Given the description of an element on the screen output the (x, y) to click on. 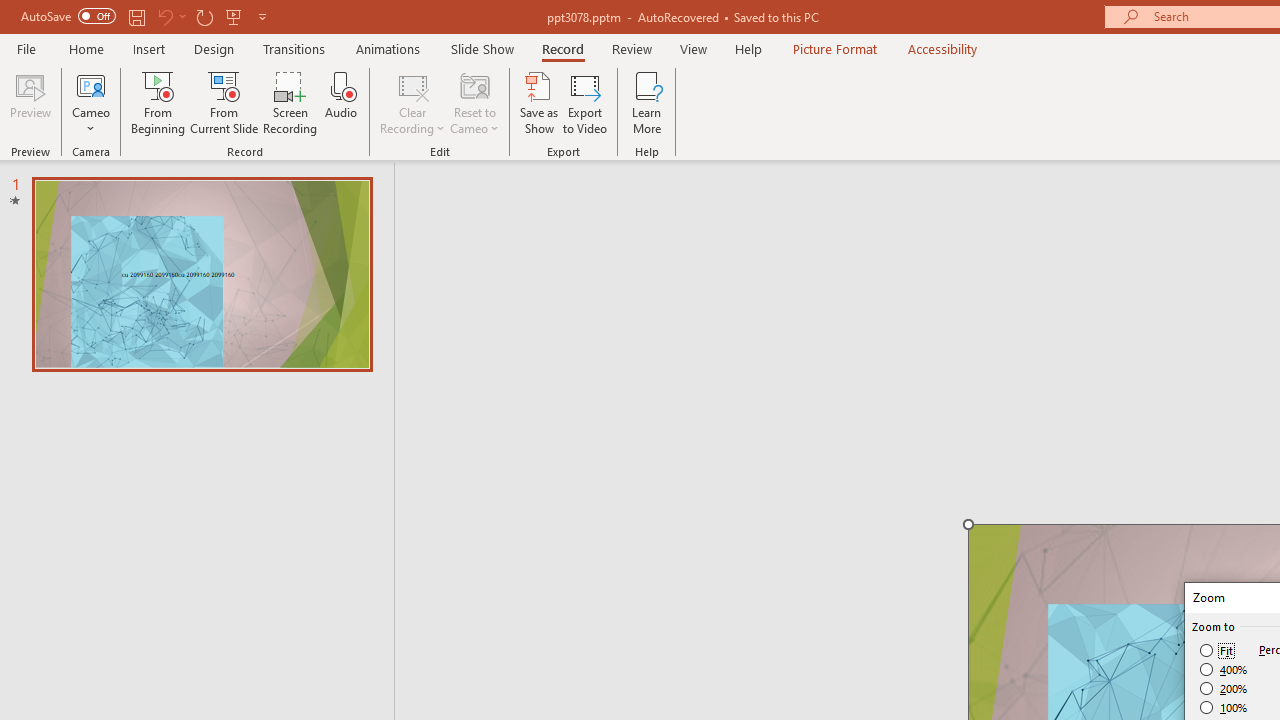
Screen Recording (290, 102)
Cameo (91, 102)
Learn More (646, 102)
Cameo (91, 84)
Save as Show (539, 102)
Accessibility (942, 48)
400% (1224, 669)
